Given the description of an element on the screen output the (x, y) to click on. 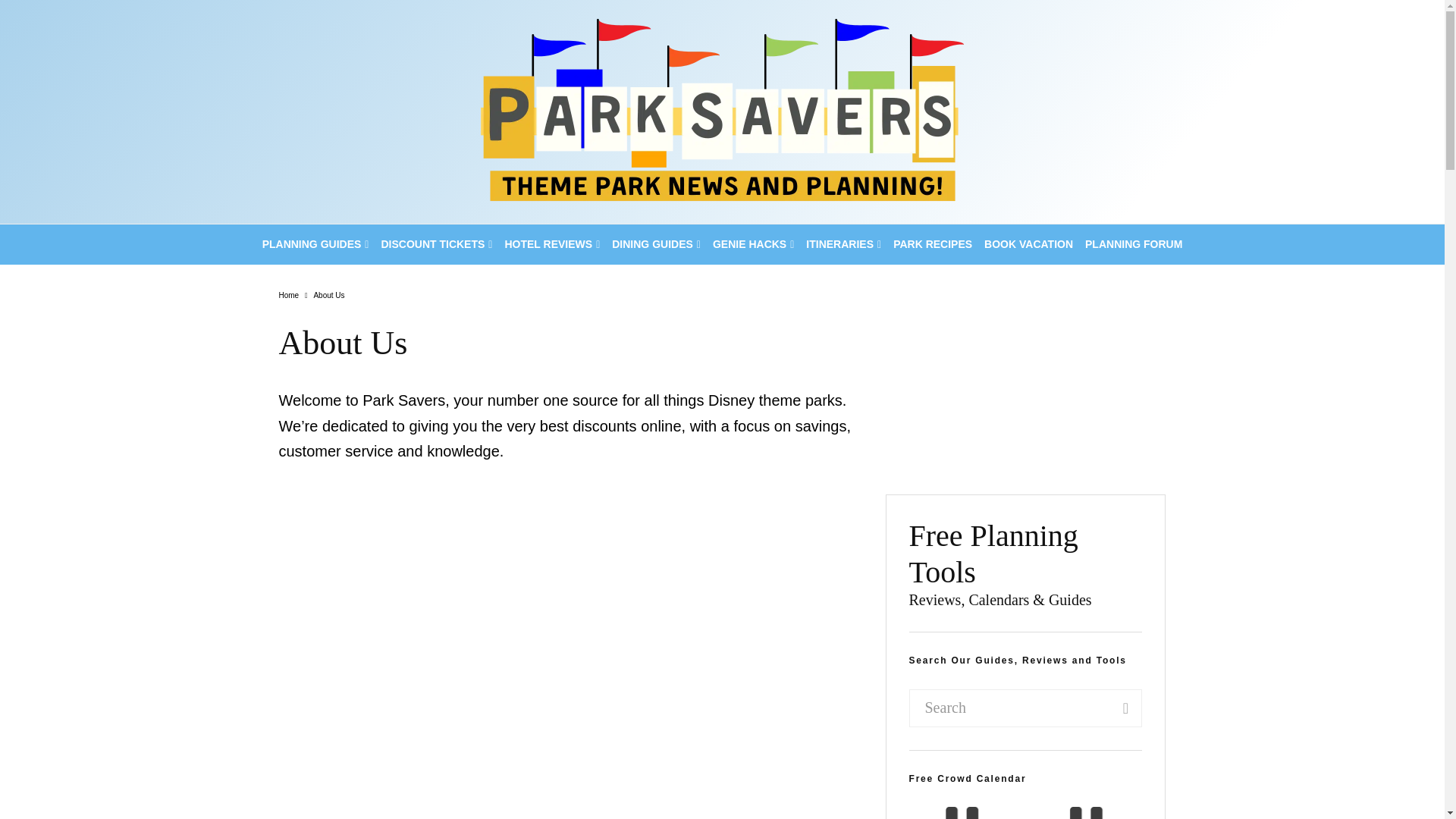
BOOK VACATION (1028, 244)
DISCOUNT TICKETS (435, 244)
PLANNING GUIDES (315, 244)
PLANNING FORUM (1133, 244)
HOTEL REVIEWS (551, 244)
GENIE HACKS (752, 244)
ITINERARIES (842, 244)
DINING GUIDES (655, 244)
PARK RECIPES (932, 244)
